Given the description of an element on the screen output the (x, y) to click on. 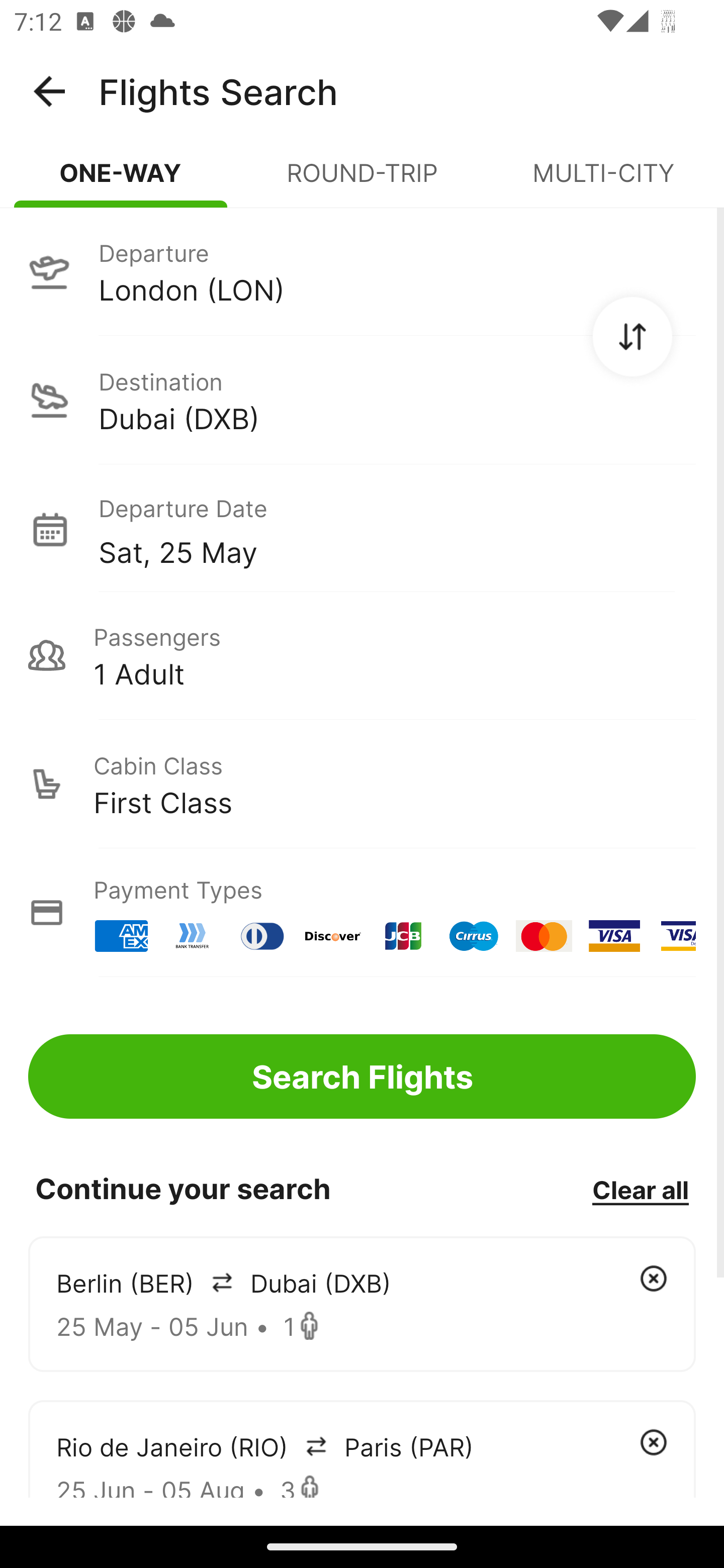
ONE-WAY (120, 180)
ROUND-TRIP (361, 180)
MULTI-CITY (603, 180)
Departure London (LON) (362, 270)
Destination Dubai (DXB) (362, 400)
Departure Date Sat, 25 May (396, 528)
Passengers 1 Adult (362, 655)
Cabin Class First Class (362, 783)
Payment Types (362, 912)
Search Flights (361, 1075)
Clear all (640, 1189)
